Given the description of an element on the screen output the (x, y) to click on. 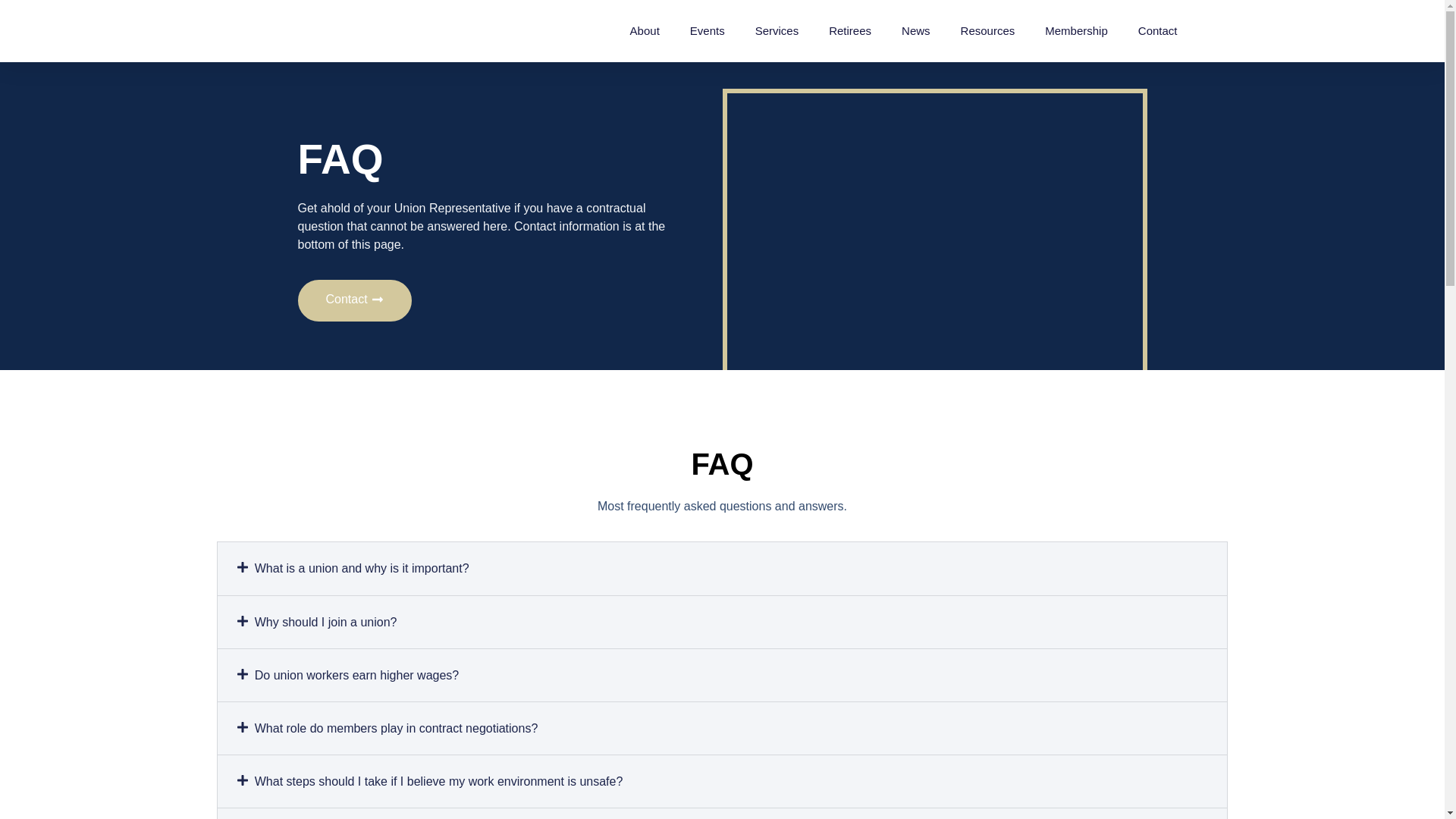
Retirees (849, 30)
Resources (987, 30)
Contact (1157, 30)
Membership (1076, 30)
Events (707, 30)
Services (777, 30)
